Given the description of an element on the screen output the (x, y) to click on. 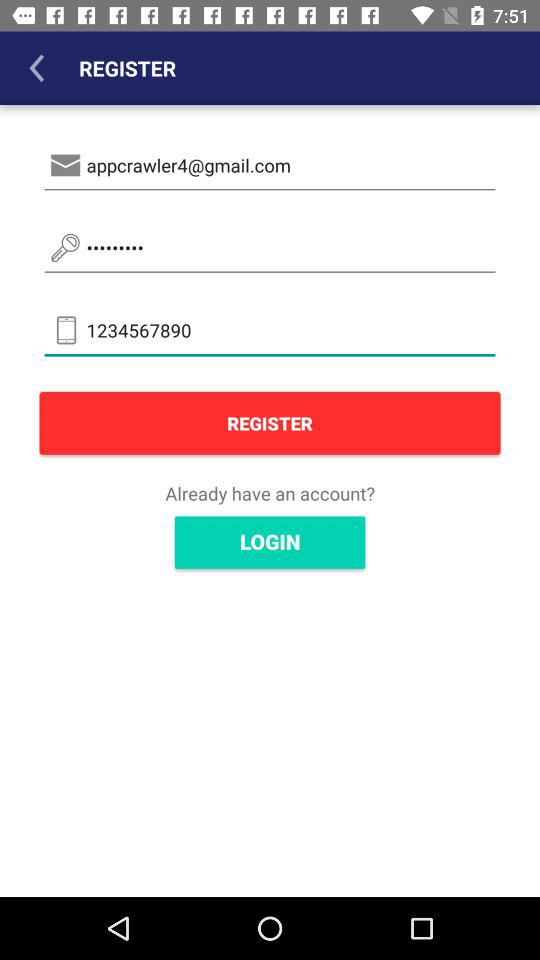
scroll until 1234567890 item (269, 330)
